Given the description of an element on the screen output the (x, y) to click on. 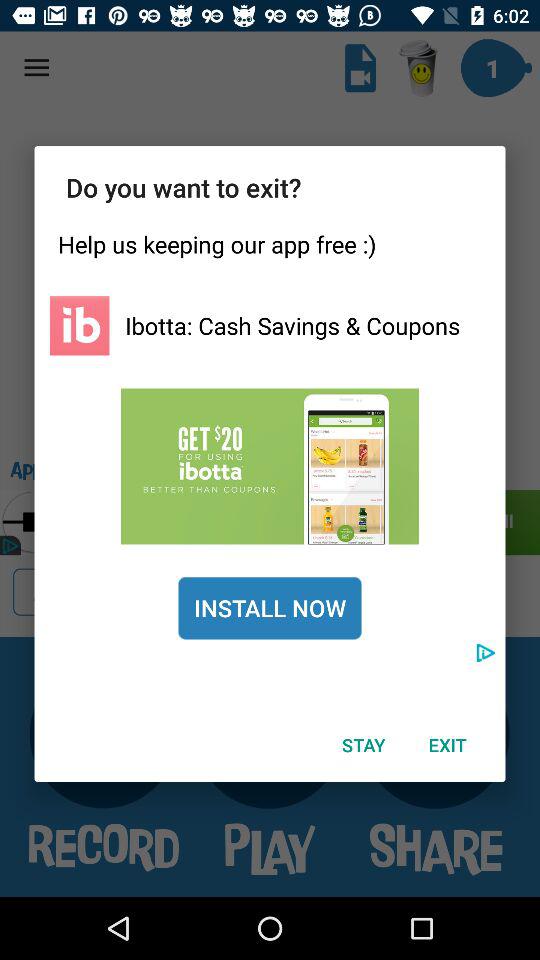
go home on app (79, 325)
